Given the description of an element on the screen output the (x, y) to click on. 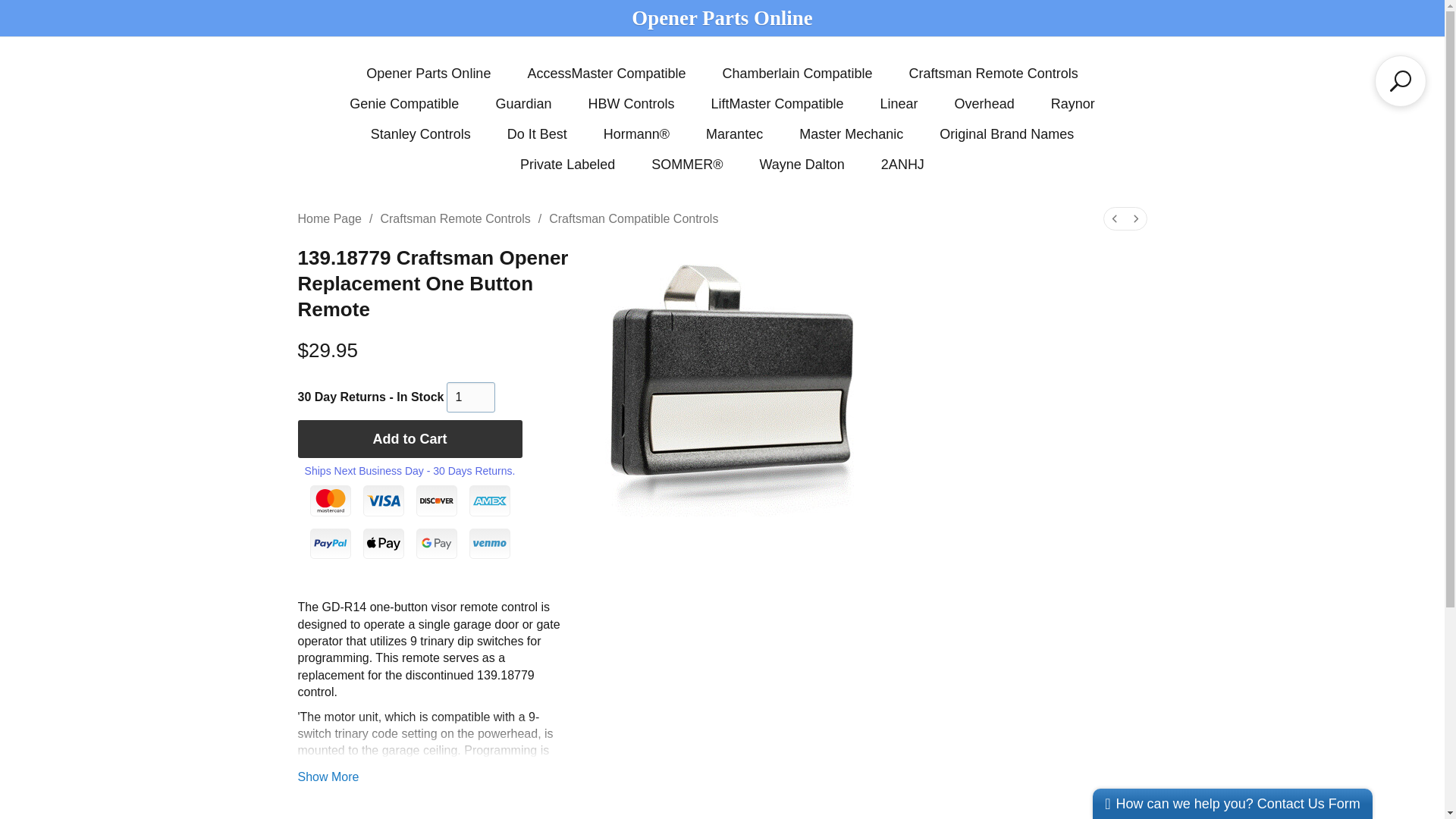
Genie Compatible (403, 103)
Opener Parts Online (721, 17)
Linear (899, 103)
Craftsman Remote Controls (993, 73)
139.18779 Craftsman Opener Replacement One Button Remote (731, 383)
Opener Parts Online (428, 73)
Chamberlain Compatible (797, 73)
Guardian (523, 103)
HBW Controls (631, 103)
AccessMaster Compatible (606, 73)
LiftMaster Compatible (776, 103)
